Given the description of an element on the screen output the (x, y) to click on. 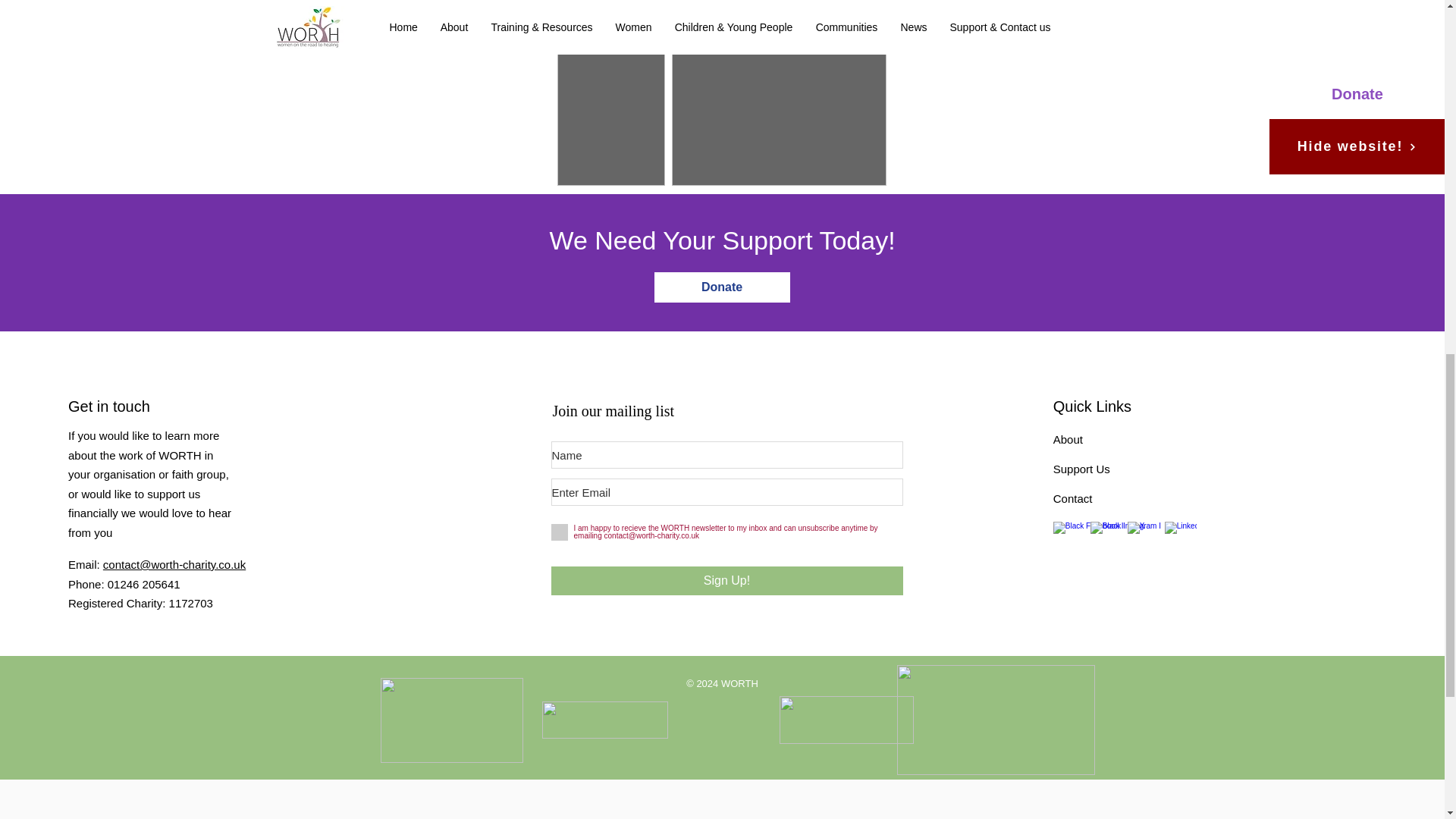
Contact (1072, 498)
Donate (721, 286)
Sign Up! (726, 580)
Support Us (1080, 468)
About (1067, 439)
